Given the description of an element on the screen output the (x, y) to click on. 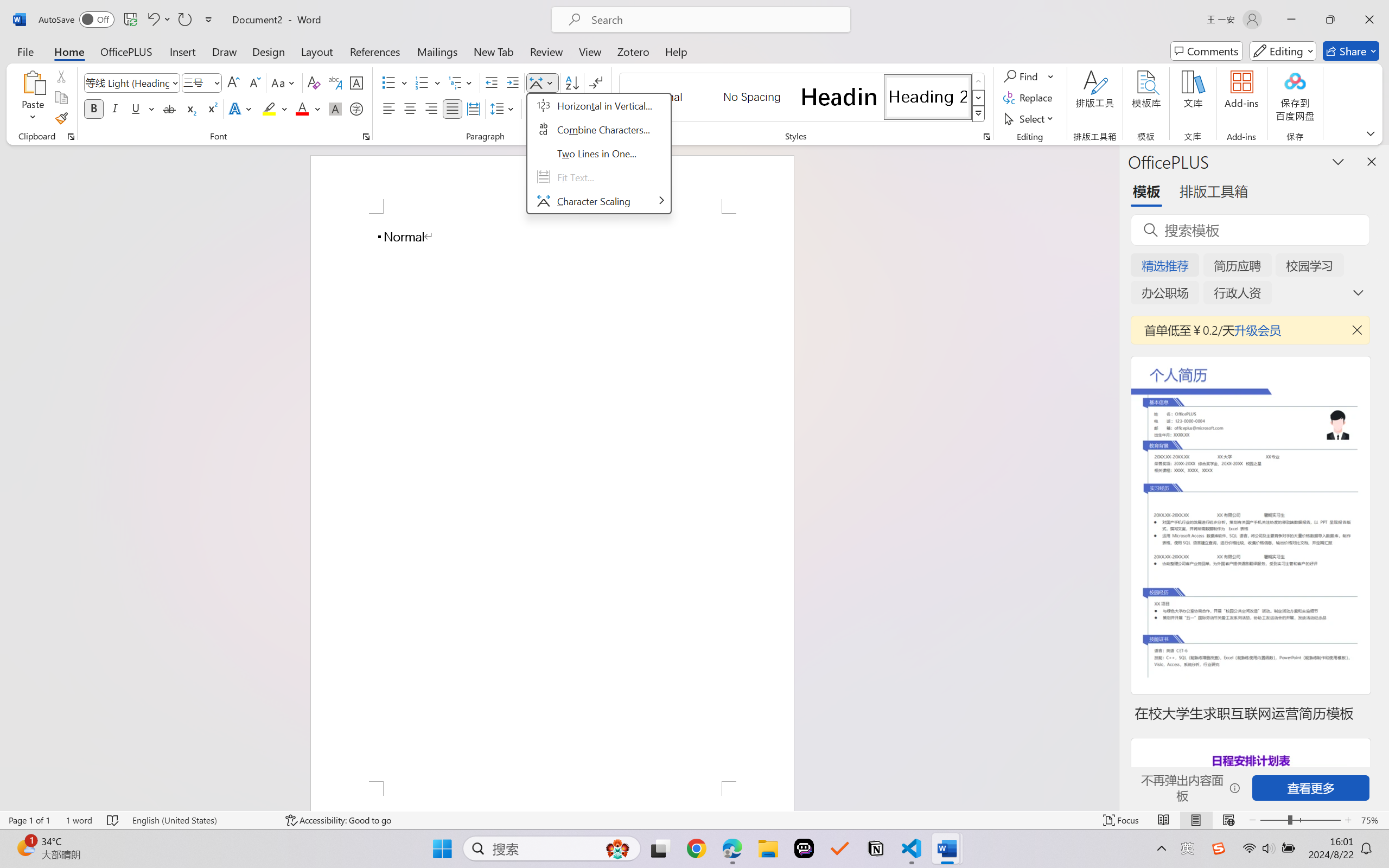
Copy (60, 97)
Font... (365, 136)
Mode (1283, 50)
Cut (60, 75)
Bullets (395, 82)
Paste (33, 97)
Google Chrome (696, 848)
Font Color (308, 108)
Draw (224, 51)
